Given the description of an element on the screen output the (x, y) to click on. 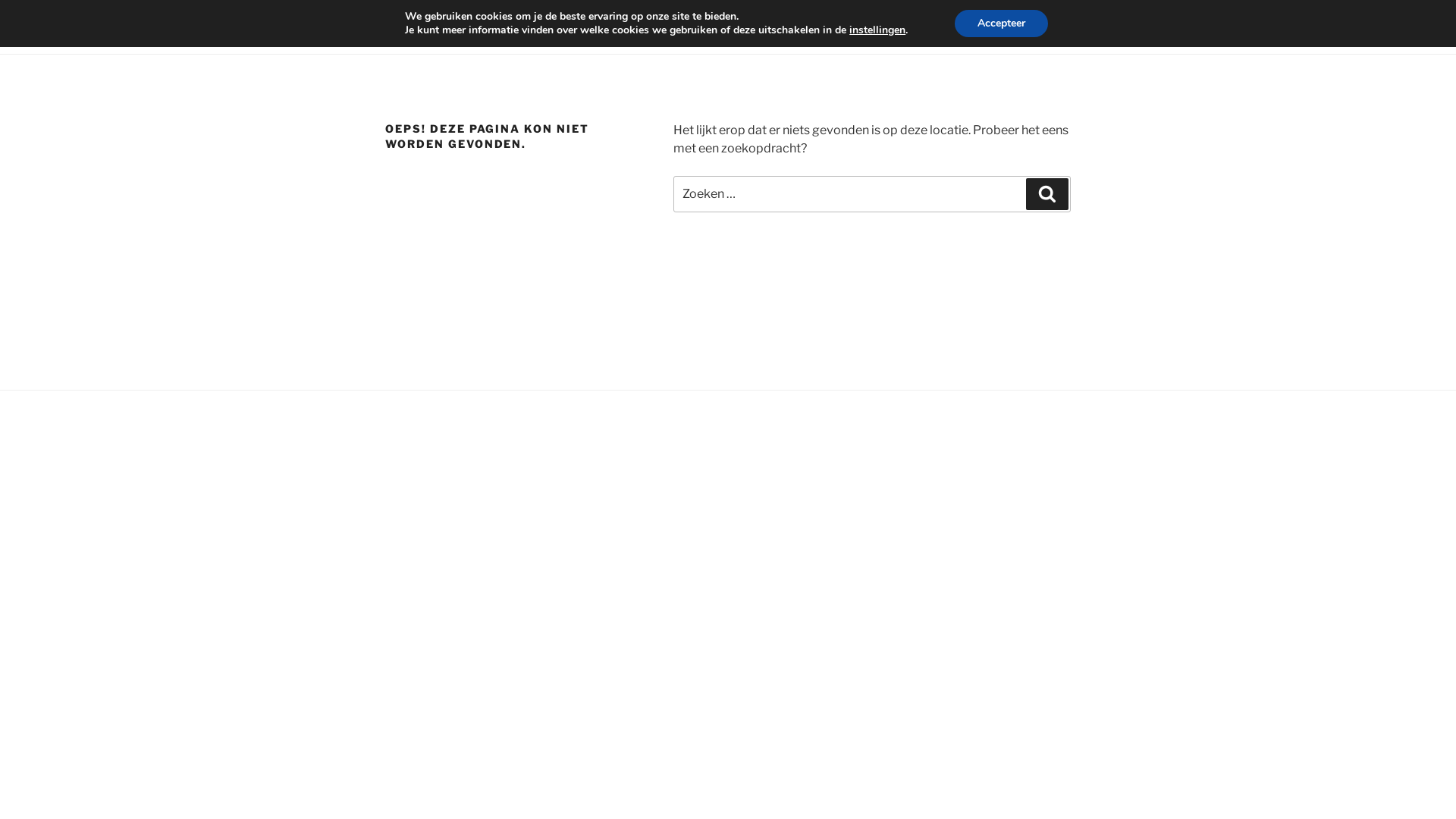
Contact Element type: text (706, 27)
Openingsuren Element type: text (555, 27)
Accepteer Element type: text (1001, 23)
History Element type: text (638, 27)
instellingen Element type: text (877, 30)
Zoeken Element type: text (1047, 194)
Welkom Element type: text (403, 27)
Te Koop Element type: text (472, 27)
